Given the description of an element on the screen output the (x, y) to click on. 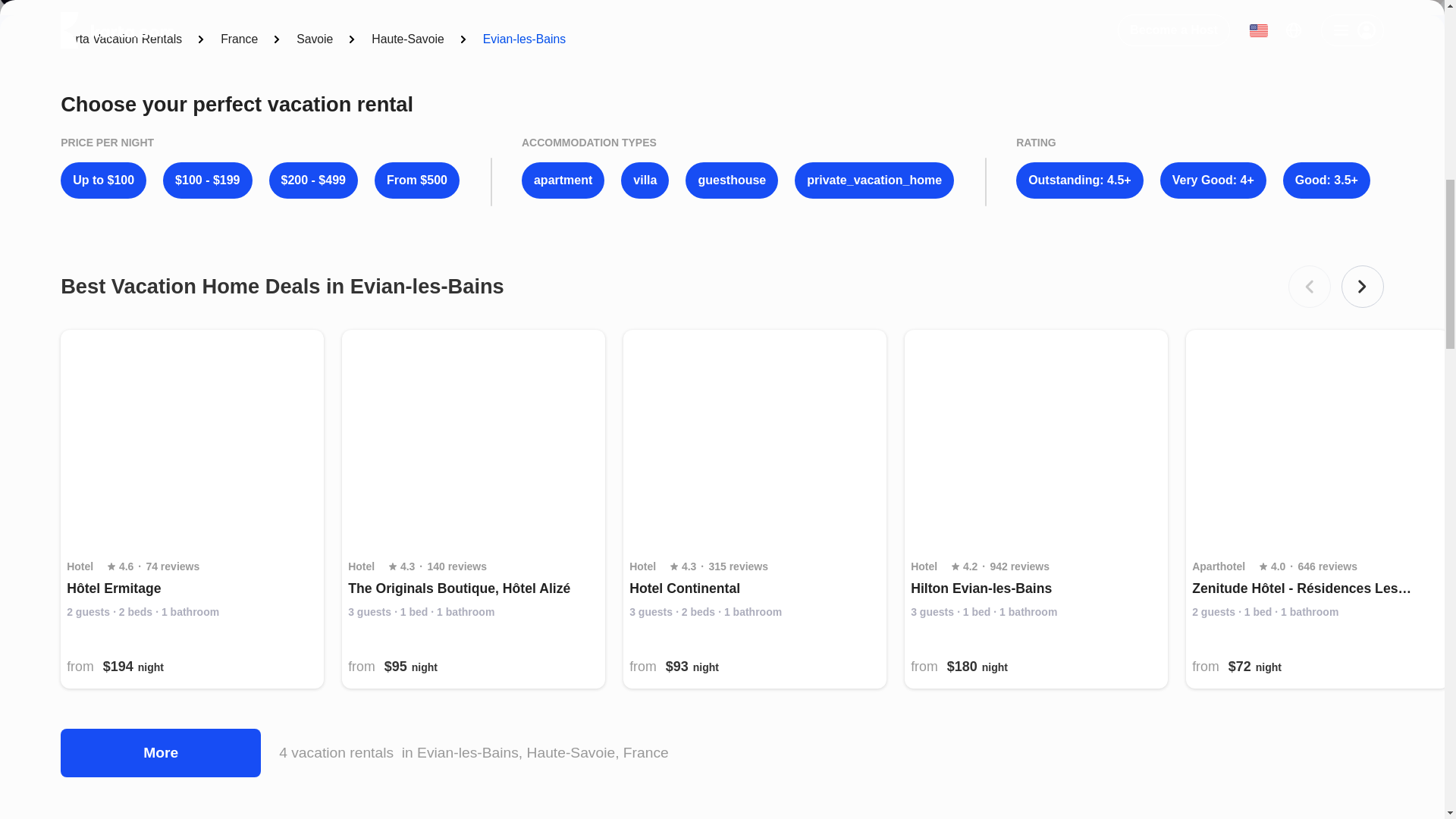
guesthouse (731, 180)
646 reviews (1326, 567)
74 reviews (172, 567)
942 reviews (1019, 567)
140 reviews (456, 567)
villa (644, 180)
Karta Vacation Rentals (121, 38)
apartment (562, 180)
Haute-Savoie (407, 38)
315 reviews (737, 567)
Savoie (315, 38)
France (239, 38)
